Given the description of an element on the screen output the (x, y) to click on. 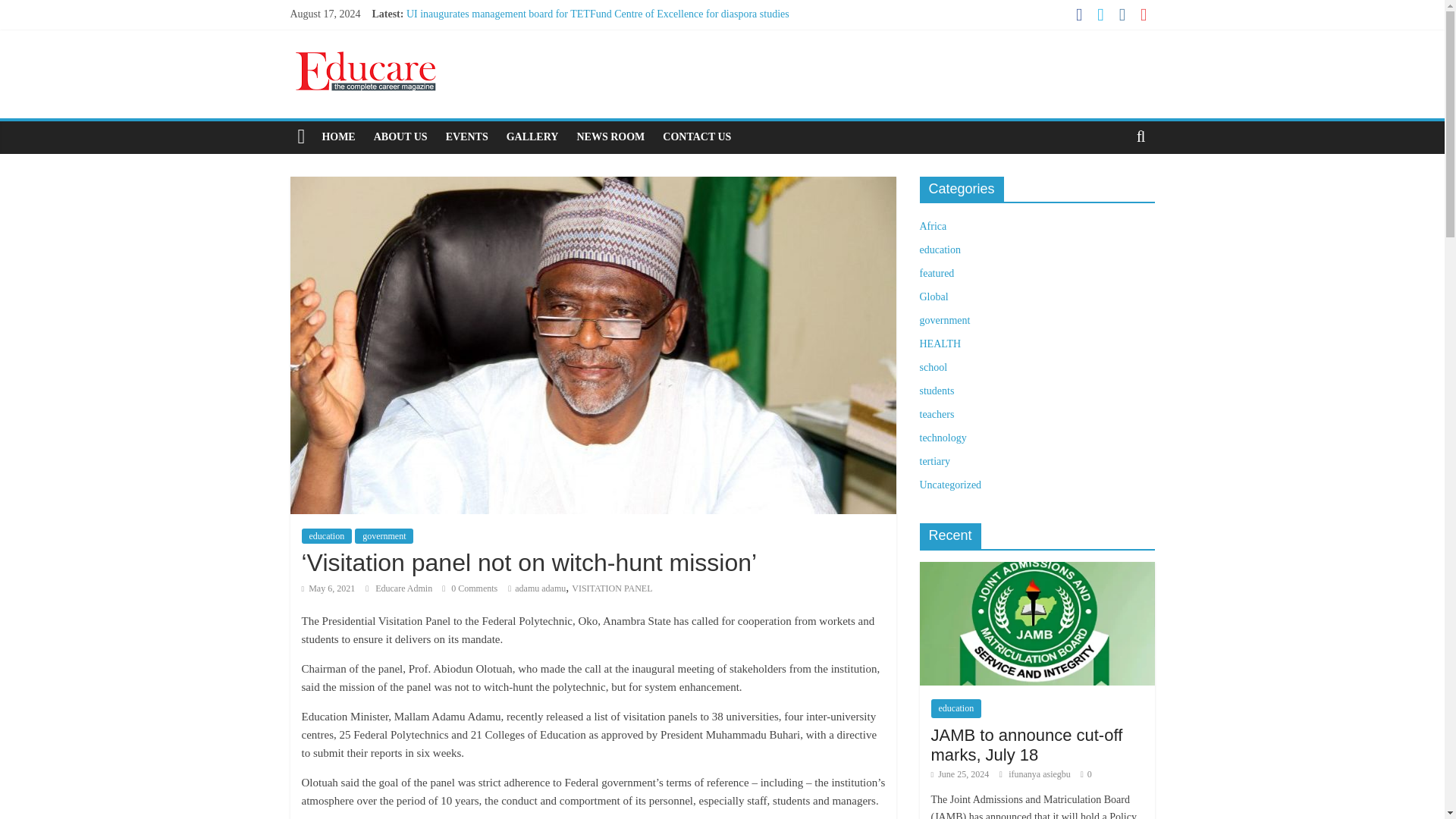
VISITATION PANEL (612, 588)
CONTACT US (696, 137)
adamu adamu (540, 588)
9:35 am (328, 588)
HOME (338, 137)
0 Comments (469, 588)
ABOUT US (400, 137)
NEWS ROOM (610, 137)
